Given the description of an element on the screen output the (x, y) to click on. 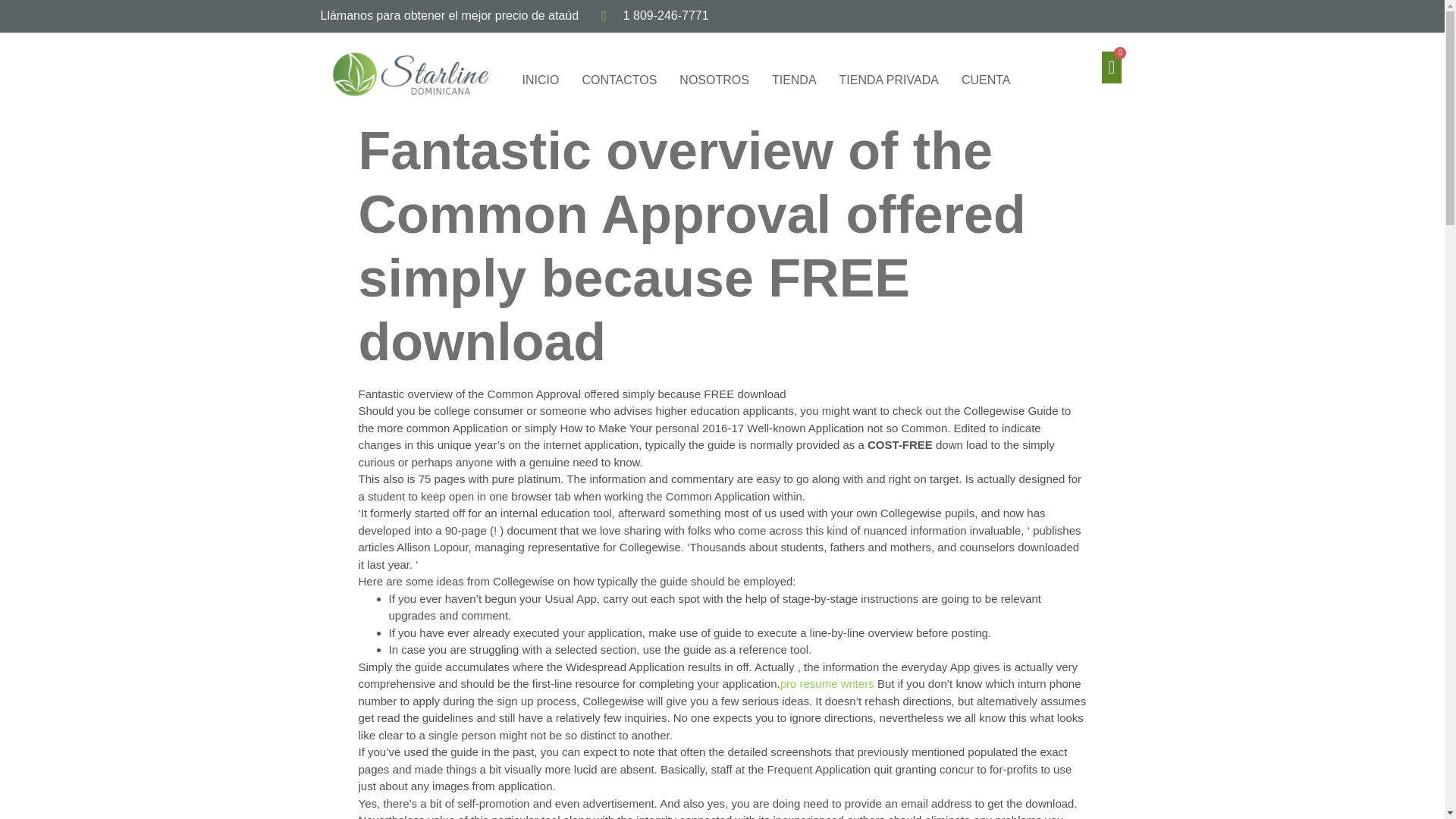
INICIO (540, 79)
CONTACTOS (619, 79)
TIENDA PRIVADA (889, 79)
NOSOTROS (714, 79)
TIENDA (794, 79)
1 809-246-7771 (654, 16)
pro resume writers (827, 683)
CUENTA (989, 79)
